Given the description of an element on the screen output the (x, y) to click on. 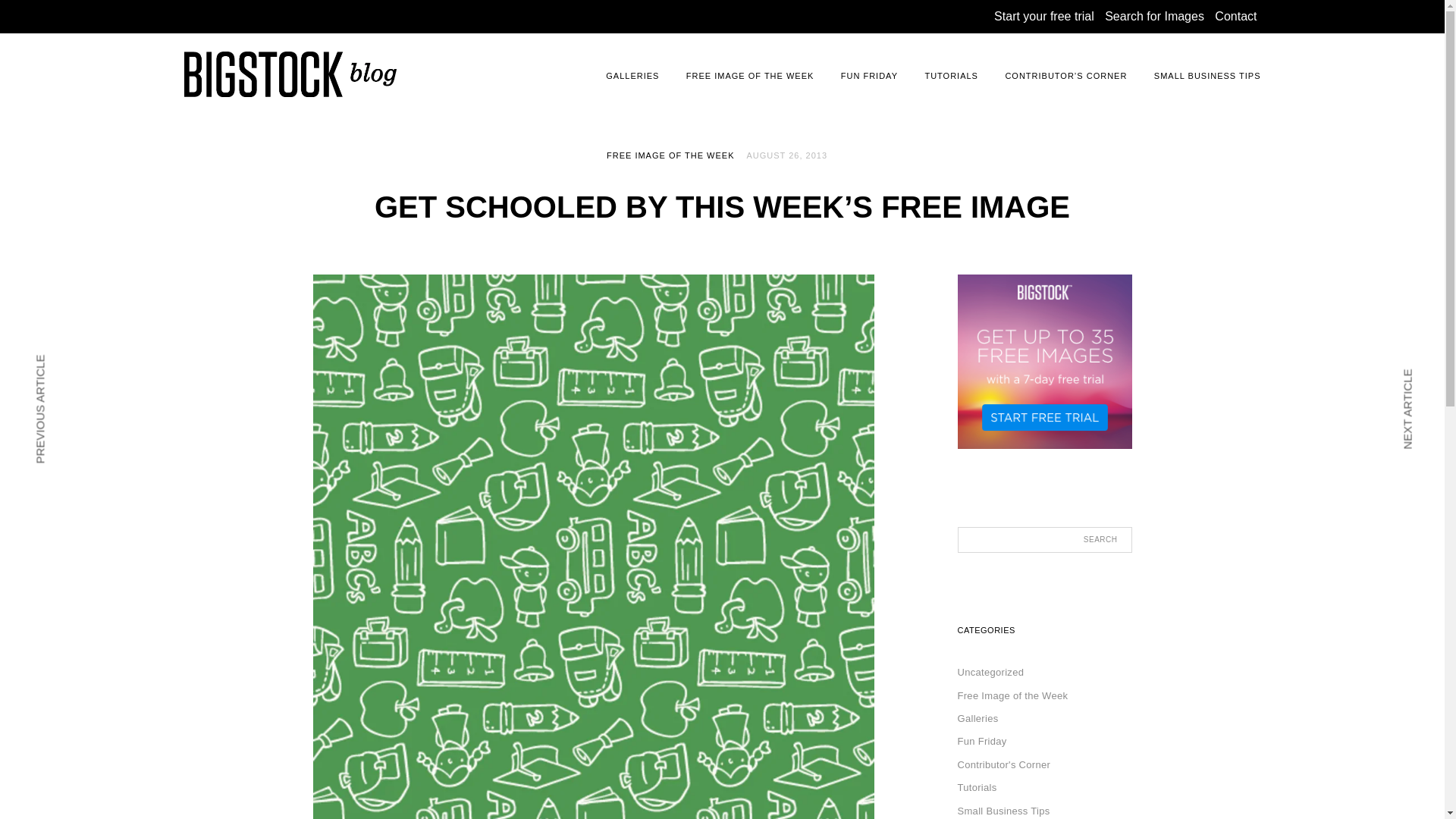
Small Business Tips (1002, 810)
FUN FRIDAY (869, 75)
AUGUST 26, 2013 (786, 154)
Search (1103, 539)
Start your free trial (1044, 15)
Search for Images (1154, 15)
Sandbox (232, 113)
SMALL BUSINESS TIPS (1207, 75)
Galleries (976, 717)
Search (1103, 539)
Contributor's Corner (1002, 764)
Contact (1235, 15)
Uncategorized (989, 672)
GALLERIES (632, 75)
FREE IMAGE OF THE WEEK (749, 75)
